Given the description of an element on the screen output the (x, y) to click on. 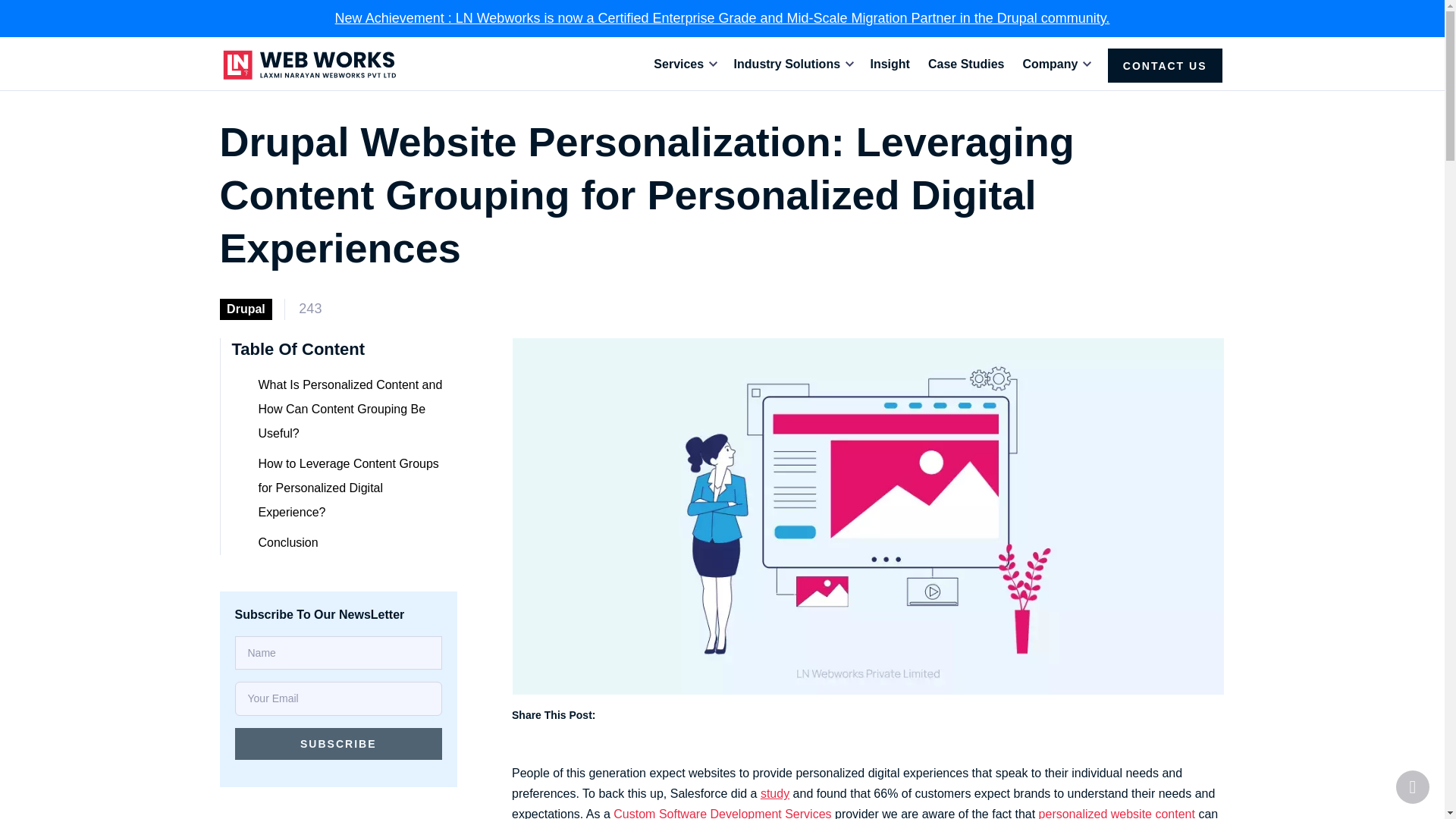
Subscribe (338, 744)
Home (309, 64)
Services (679, 64)
Case Studies (965, 64)
Insight (889, 64)
